Given the description of an element on the screen output the (x, y) to click on. 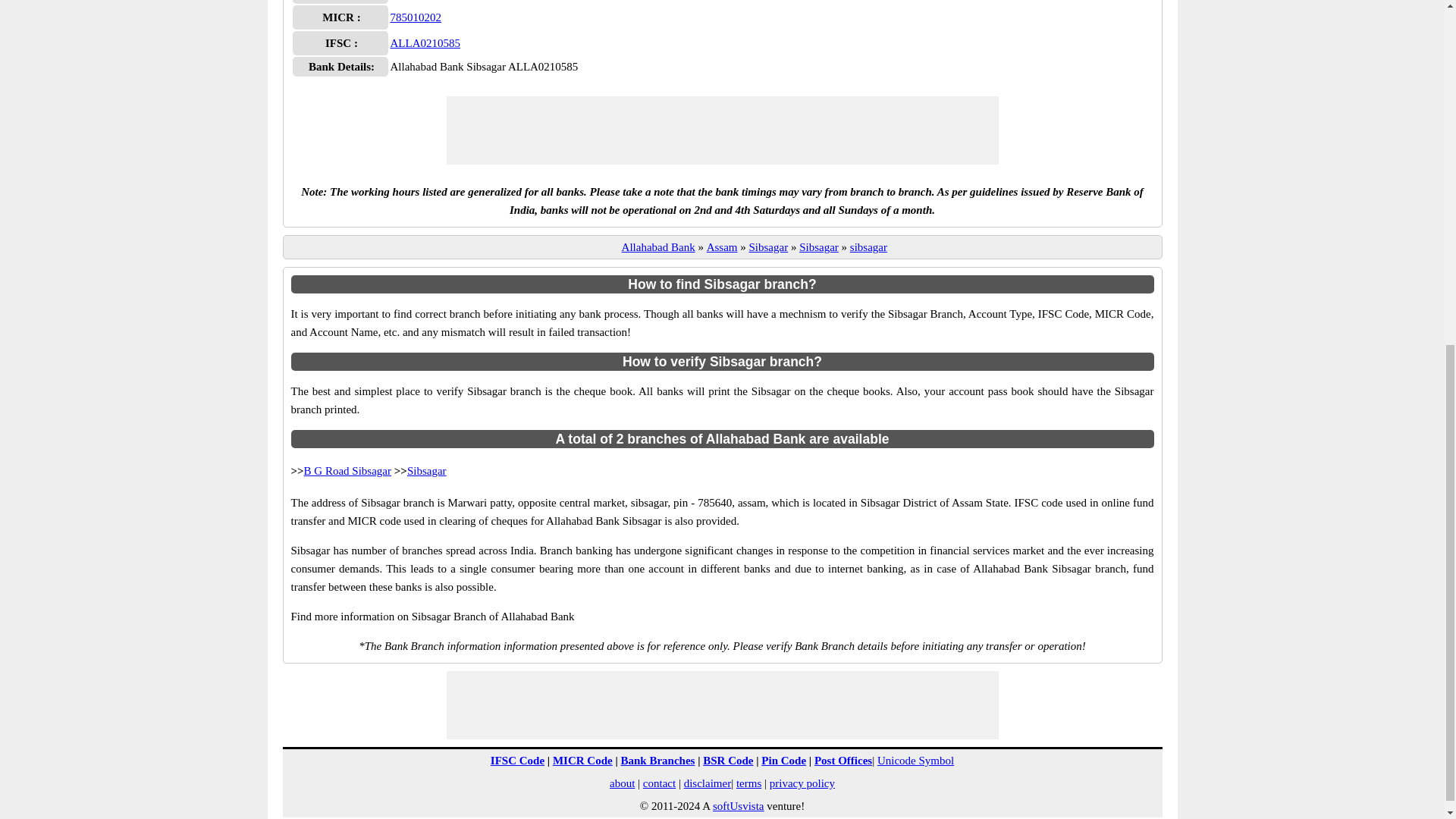
terms (748, 783)
softUsvista (738, 806)
MICR Code Finder (582, 760)
privacy policy (802, 783)
Sibsagar (818, 246)
Bank Branches (657, 760)
Post Offices (842, 760)
Allahabad Bank (658, 246)
ALLA0210585 (425, 42)
IFSC Code (517, 760)
Pin Code (783, 760)
Unicode Symbol (915, 760)
Bank Branch Locator (657, 760)
Post Office Locator (842, 760)
Sibsagar (769, 246)
